Given the description of an element on the screen output the (x, y) to click on. 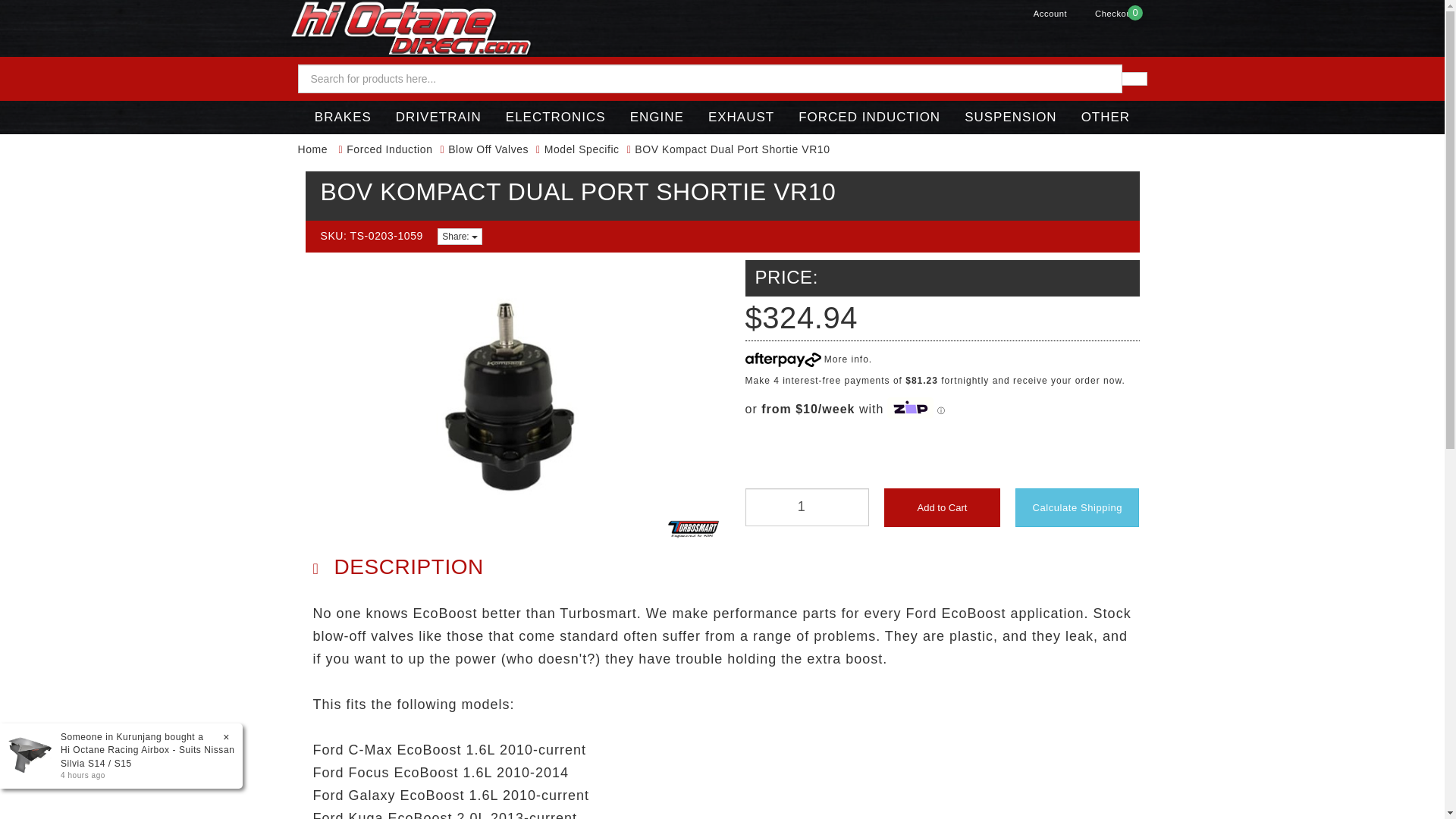
Search (917, 101)
Search (1134, 78)
1 (805, 507)
Account (1114, 13)
Add to Cart (1049, 13)
Turbosmart (941, 507)
